Given the description of an element on the screen output the (x, y) to click on. 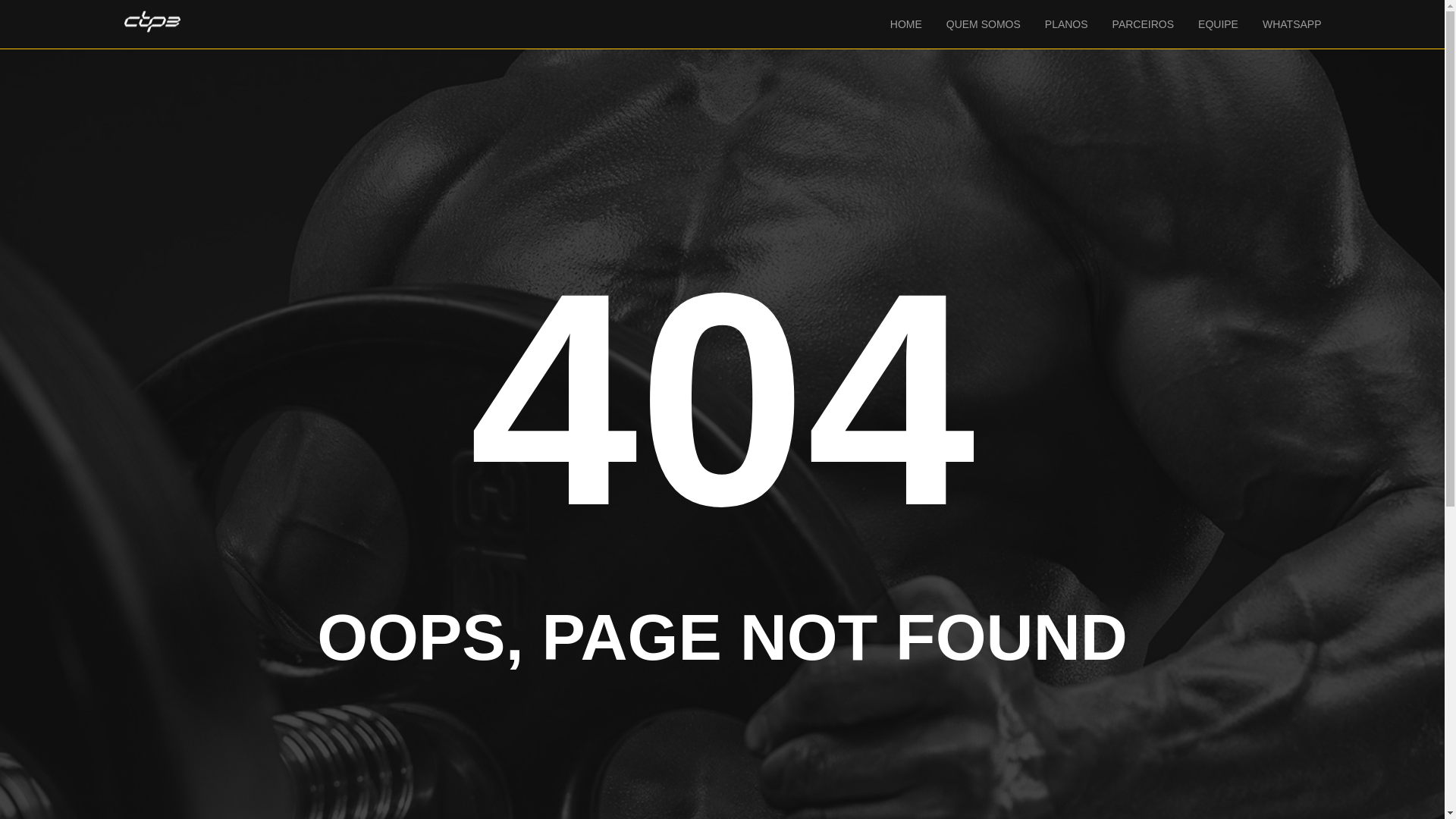
QUEM SOMOS (983, 23)
WHATSAPP (1292, 23)
PLANOS (1066, 23)
EQUIPE (1218, 23)
PARCEIROS (1142, 23)
HOME (905, 23)
